Given the description of an element on the screen output the (x, y) to click on. 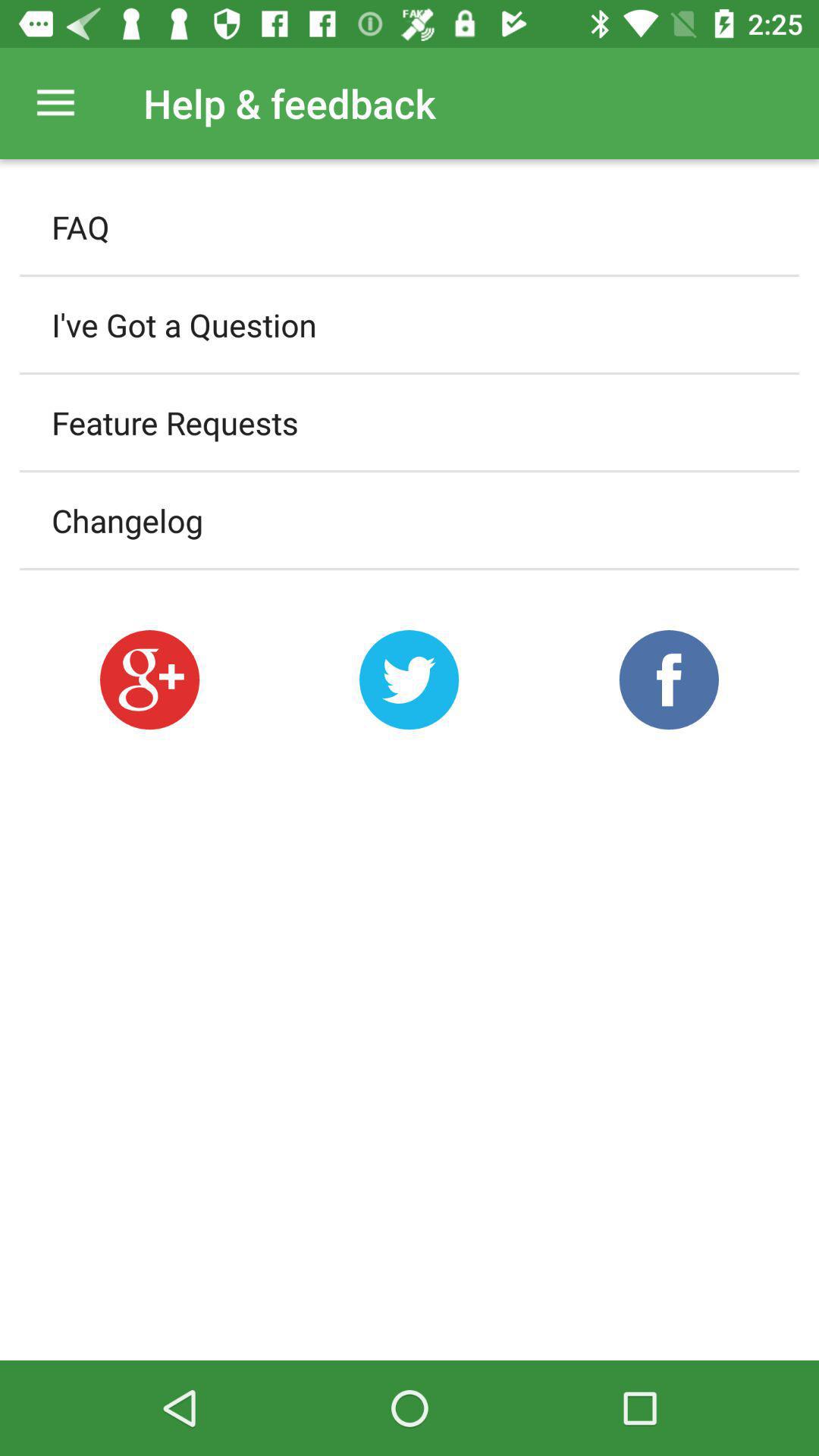
select the icon below the i ve got item (409, 422)
